Given the description of an element on the screen output the (x, y) to click on. 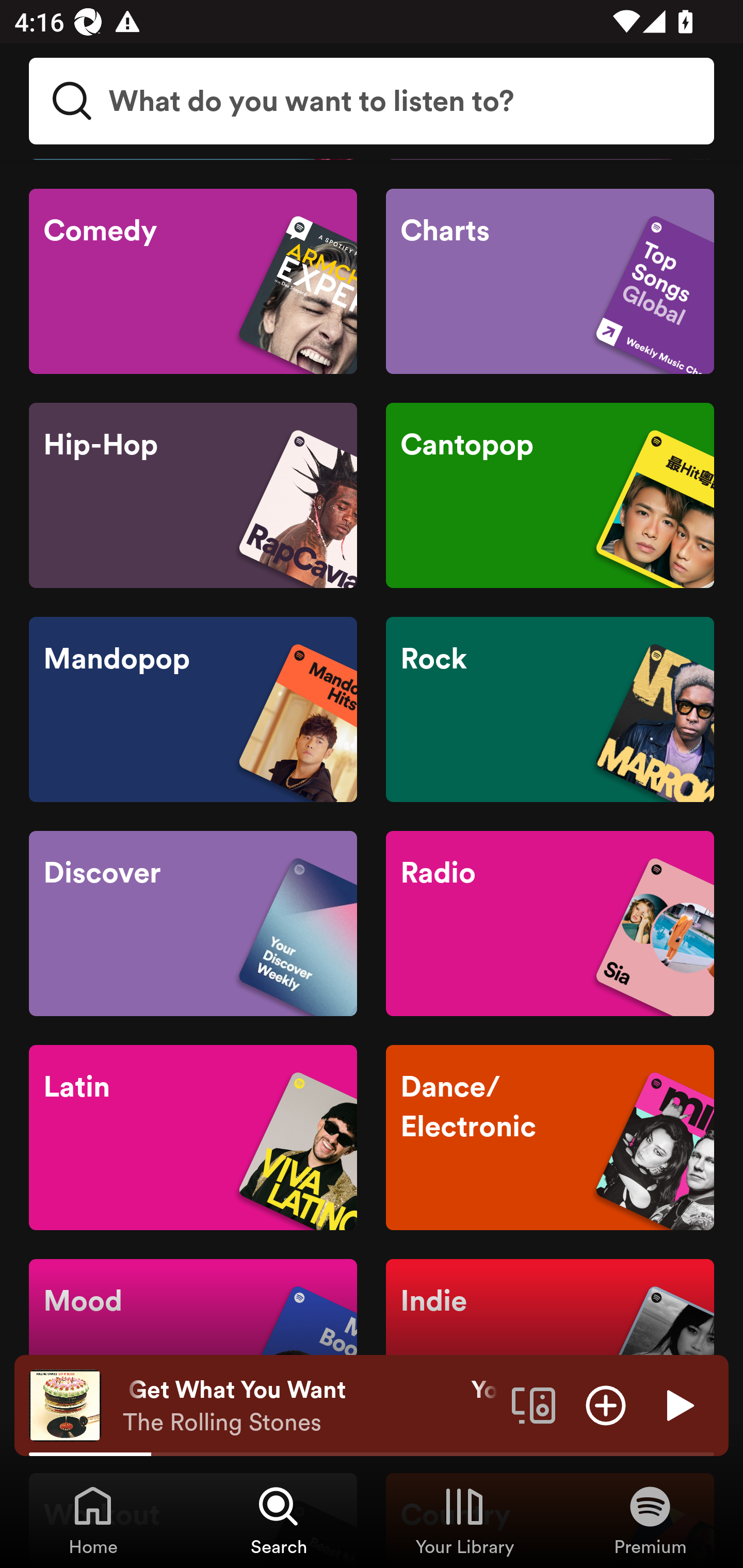
Comedy (192, 280)
Charts (549, 280)
Hip-Hop (192, 495)
Cantopop (549, 495)
Mandopop (192, 709)
Rock (549, 709)
Discover (192, 923)
Radio (549, 923)
Latin (192, 1137)
Dance/Electronic (549, 1137)
The cover art of the currently playing track (64, 1404)
Connect to a device. Opens the devices menu (533, 1404)
Add item (605, 1404)
Play (677, 1404)
Home, Tab 1 of 4 Home Home (92, 1519)
Search, Tab 2 of 4 Search Search (278, 1519)
Your Library, Tab 3 of 4 Your Library Your Library (464, 1519)
Premium, Tab 4 of 4 Premium Premium (650, 1519)
